Given the description of an element on the screen output the (x, y) to click on. 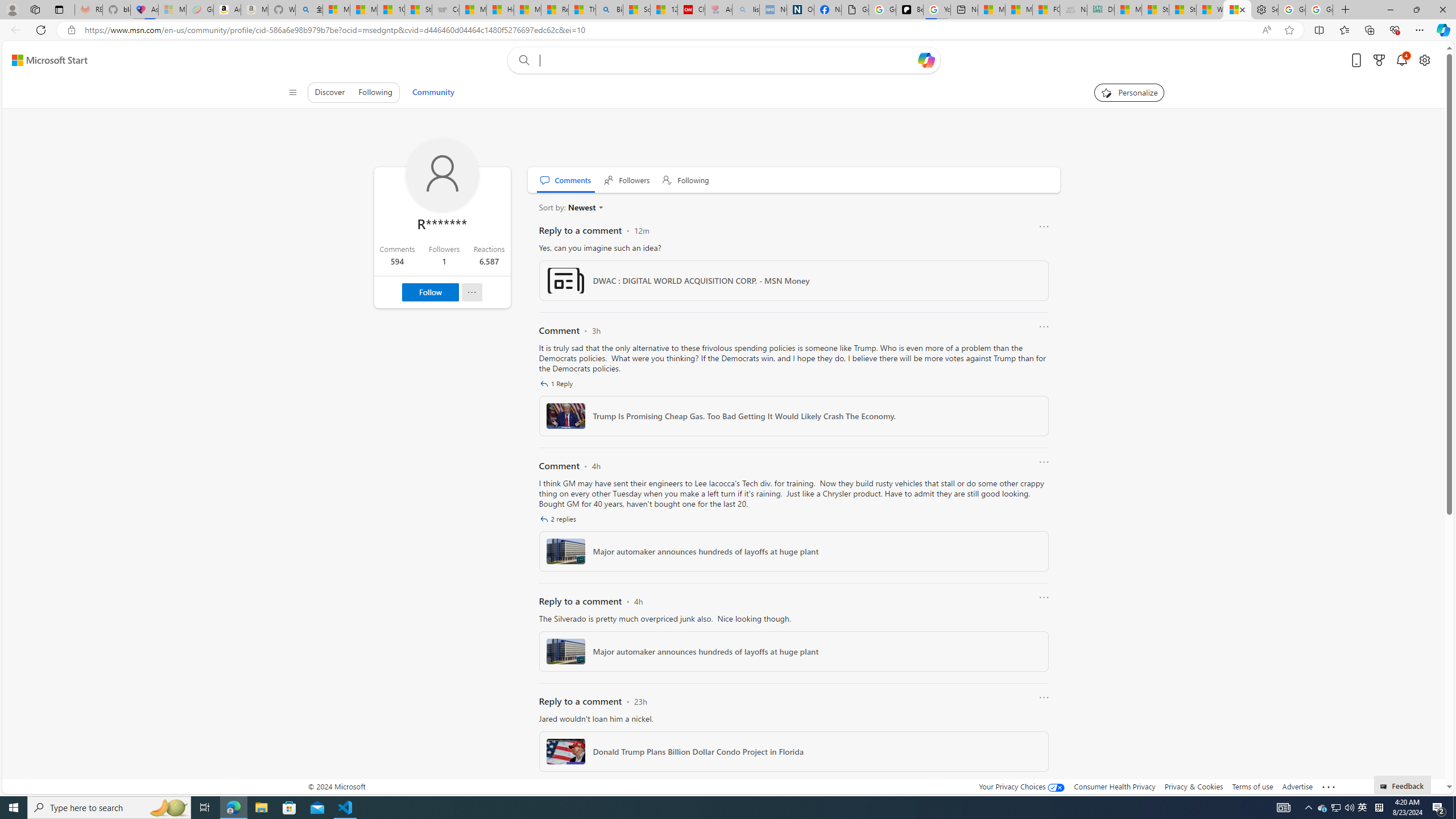
2 replies (558, 519)
1 Reply (557, 383)
Profile Picture (442, 174)
Arthritis: Ask Health Professionals - Sleeping (718, 9)
